Given the description of an element on the screen output the (x, y) to click on. 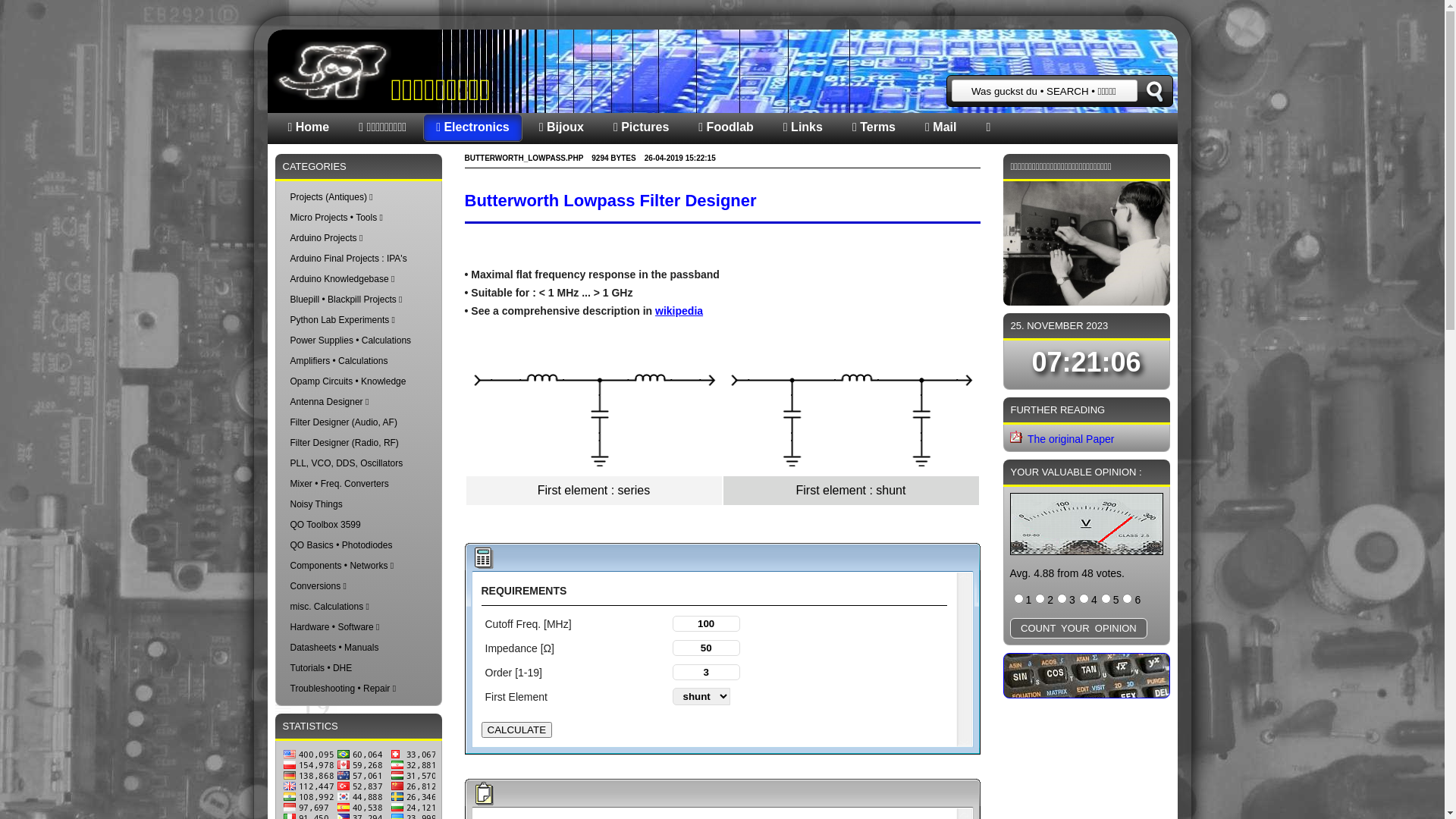
QO Toolbox 3599 Element type: text (324, 524)
Filter Designer (Audio, AF) Element type: text (342, 422)
Noisy Things Element type: text (315, 503)
CALCULATE Element type: text (516, 729)
wikipedia Element type: text (678, 310)
The original Paper Element type: text (1070, 439)
Arduino Final Projects : IPA's Element type: text (347, 258)
Filter Designer (Radio, RF) Element type: text (343, 442)
PLL, VCO, DDS, Oscillators Element type: text (345, 463)
